Given the description of an element on the screen output the (x, y) to click on. 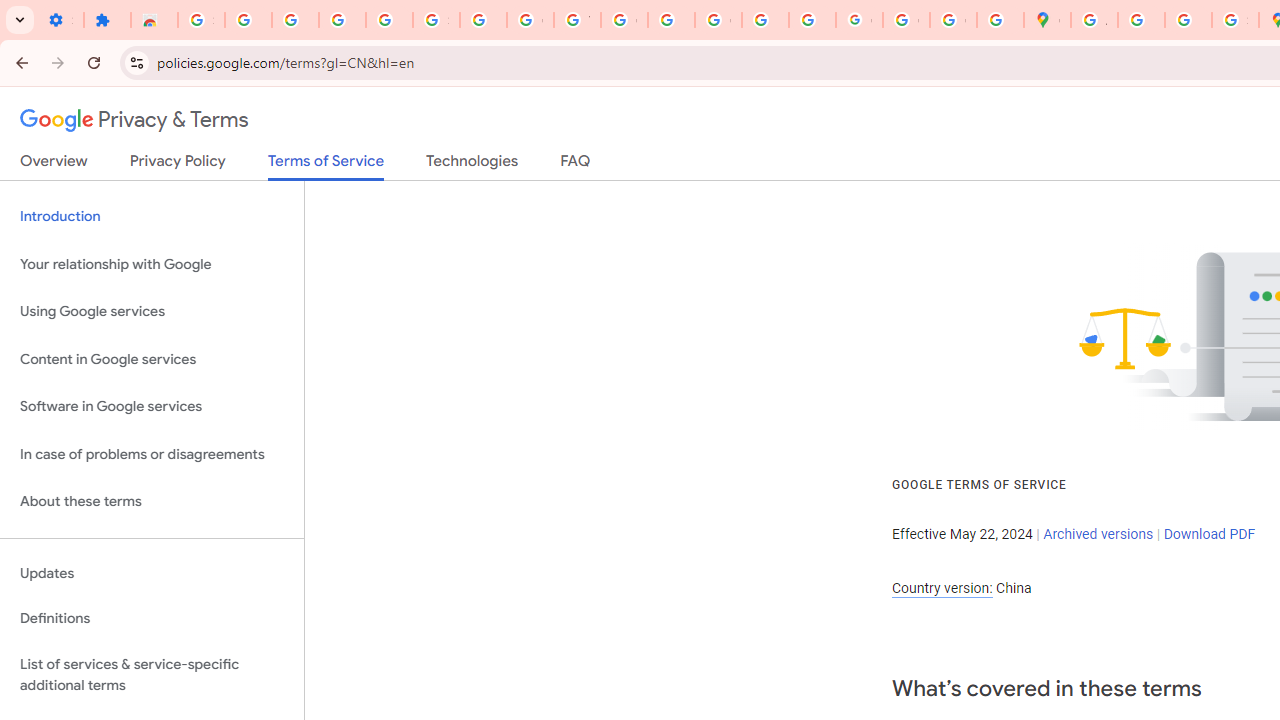
Using Google services (152, 312)
Settings - On startup (60, 20)
Reviews: Helix Fruit Jump Arcade Game (153, 20)
Content in Google services (152, 358)
Country version: (942, 588)
Archived versions (1098, 533)
